Given the description of an element on the screen output the (x, y) to click on. 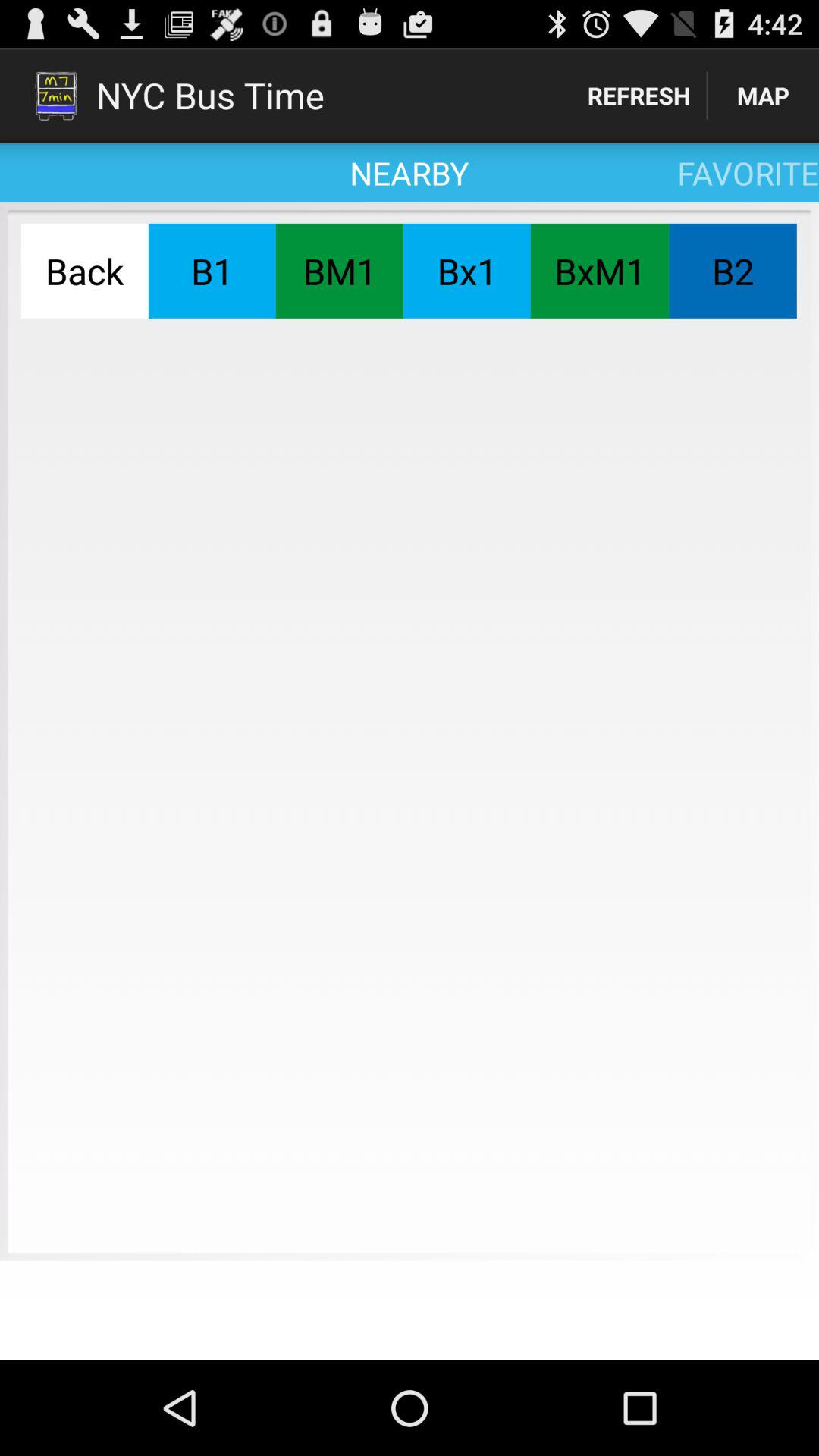
scroll until bm1 button (339, 271)
